Given the description of an element on the screen output the (x, y) to click on. 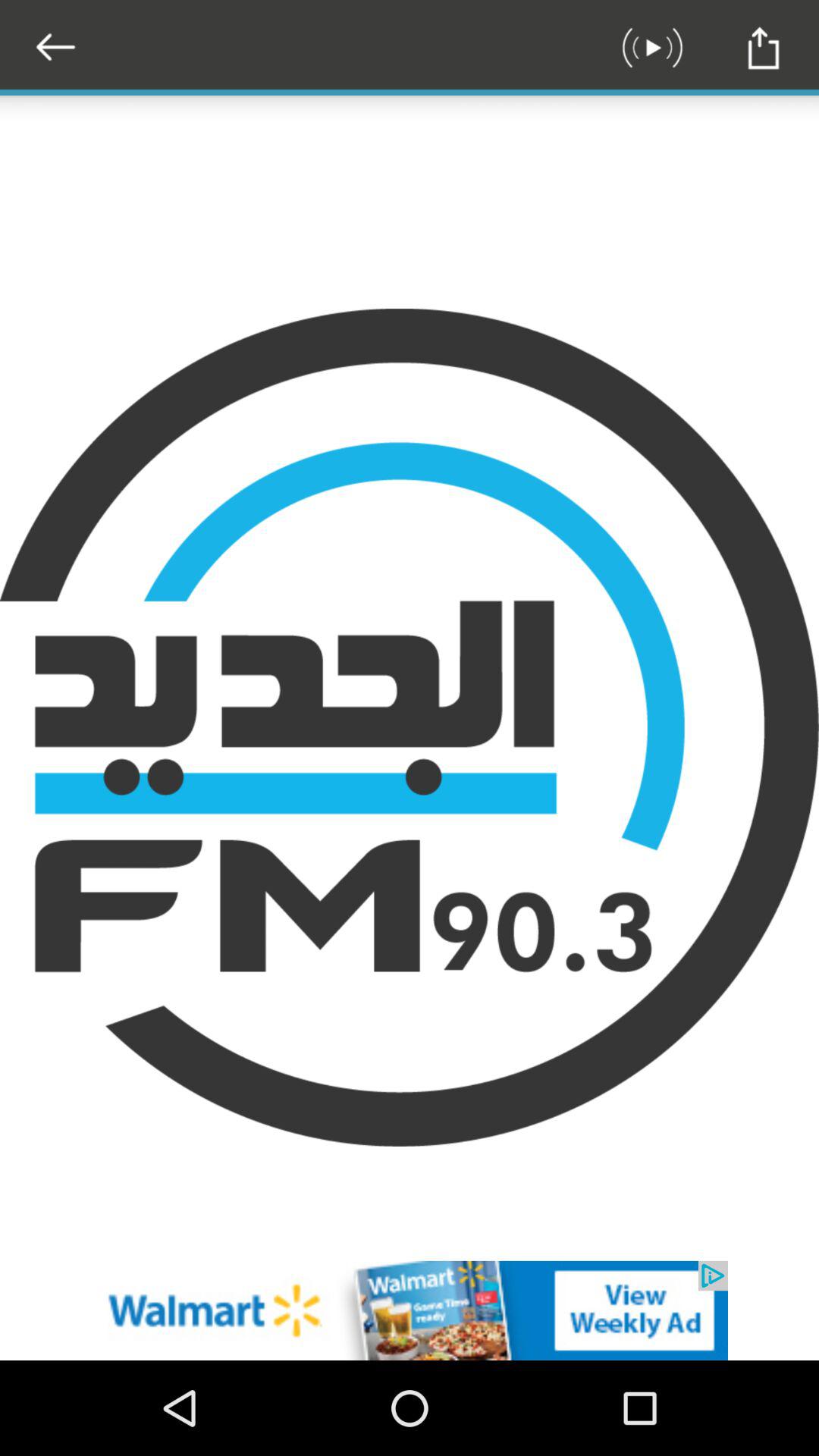
add the option (409, 1310)
